Given the description of an element on the screen output the (x, y) to click on. 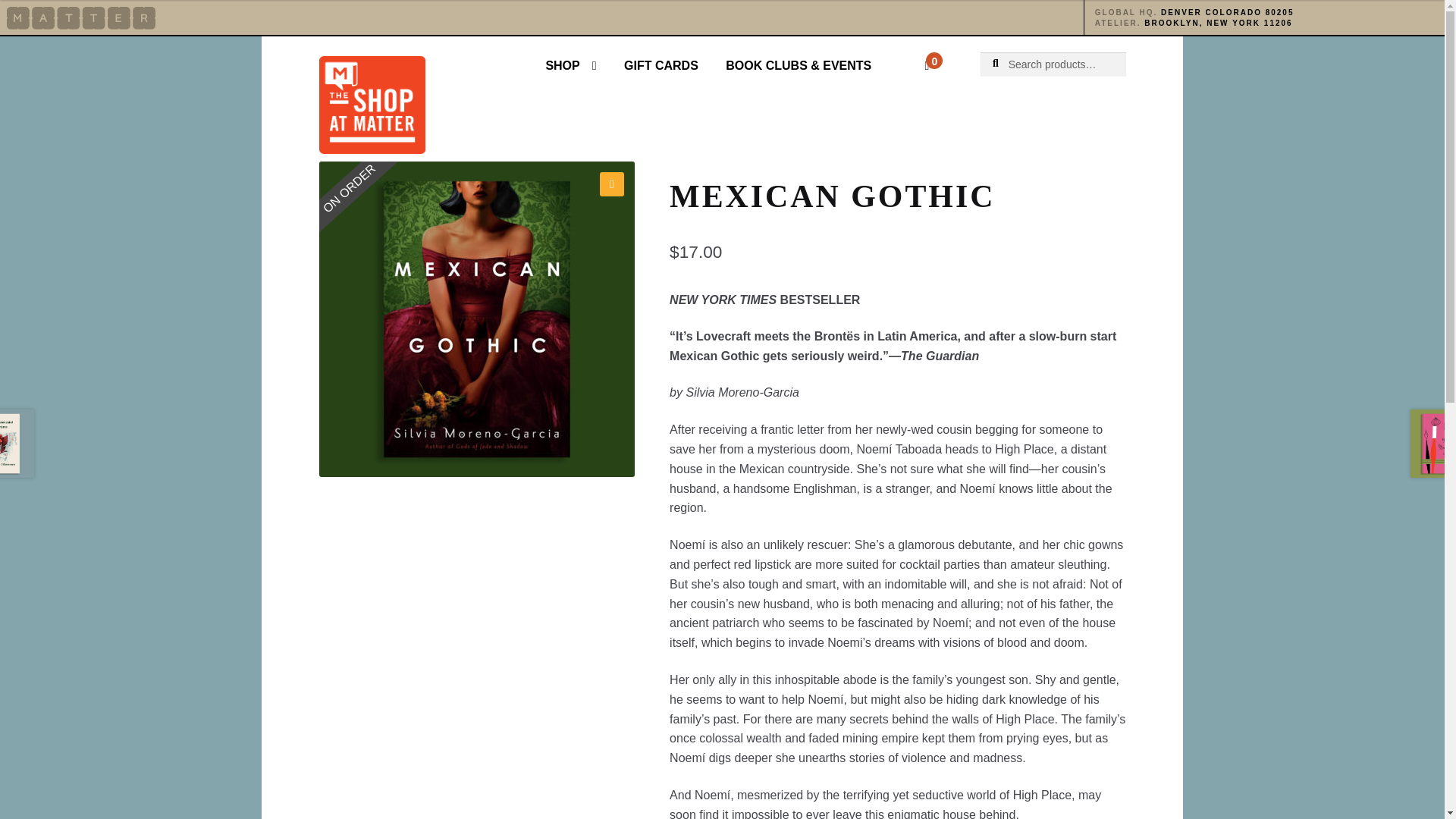
SHOP (570, 65)
GIFT CARDS (660, 65)
Advocating design for human good (81, 17)
MexicanGothicCover (475, 318)
View your shopping cart (905, 56)
